Given the description of an element on the screen output the (x, y) to click on. 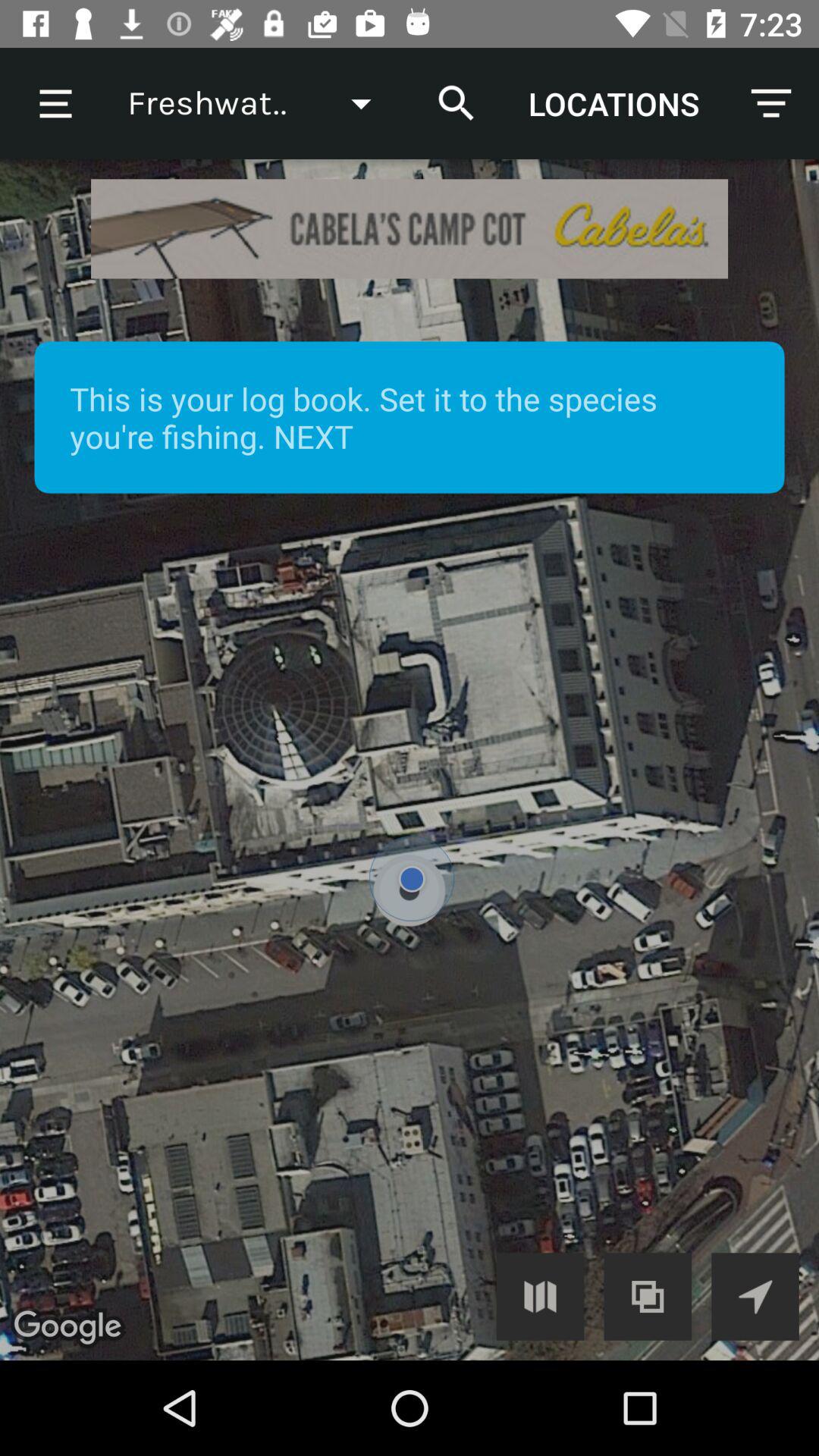
enter navigation (755, 1296)
